Given the description of an element on the screen output the (x, y) to click on. 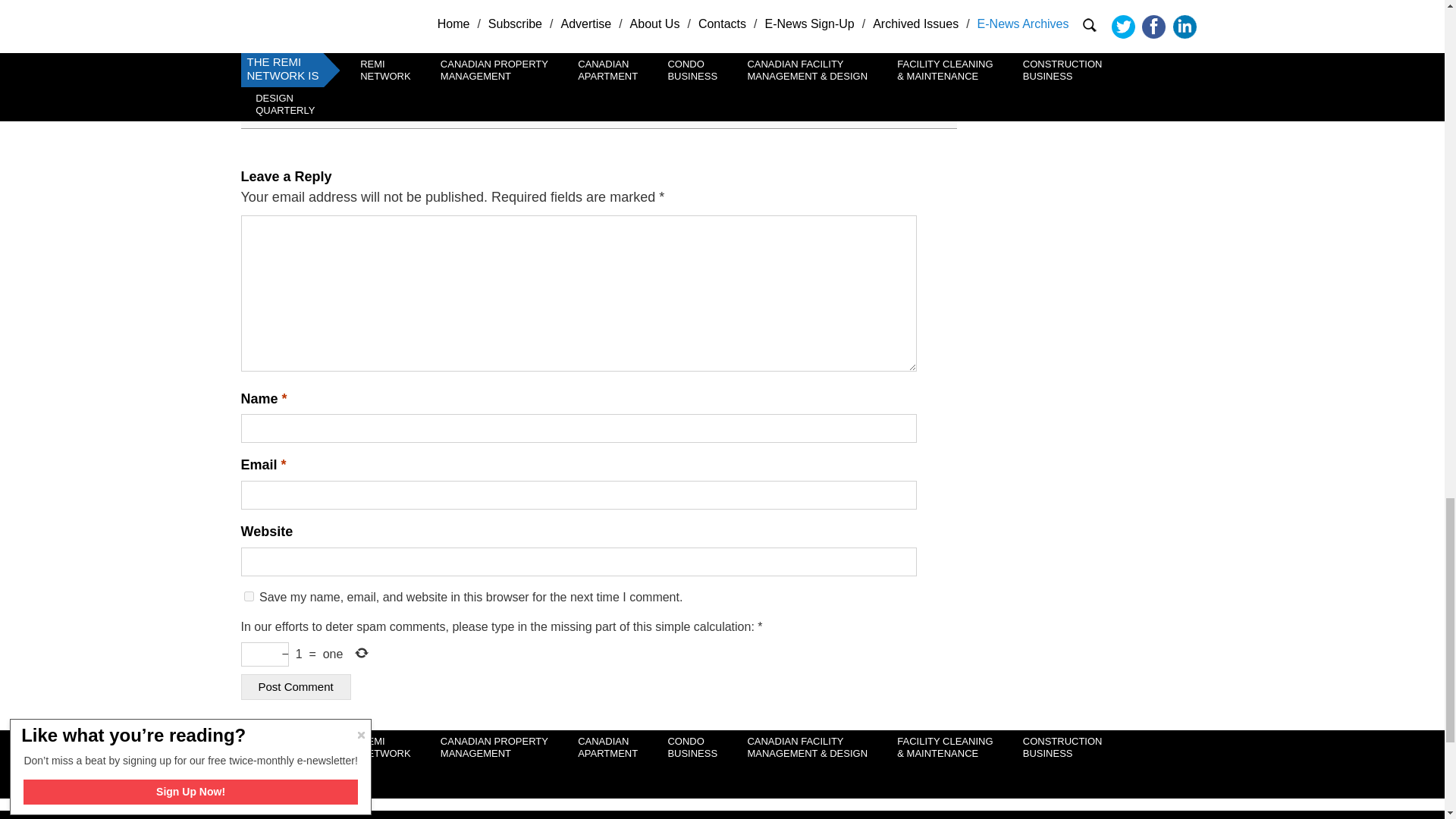
Post Comment (295, 687)
yes (248, 596)
